Given the description of an element on the screen output the (x, y) to click on. 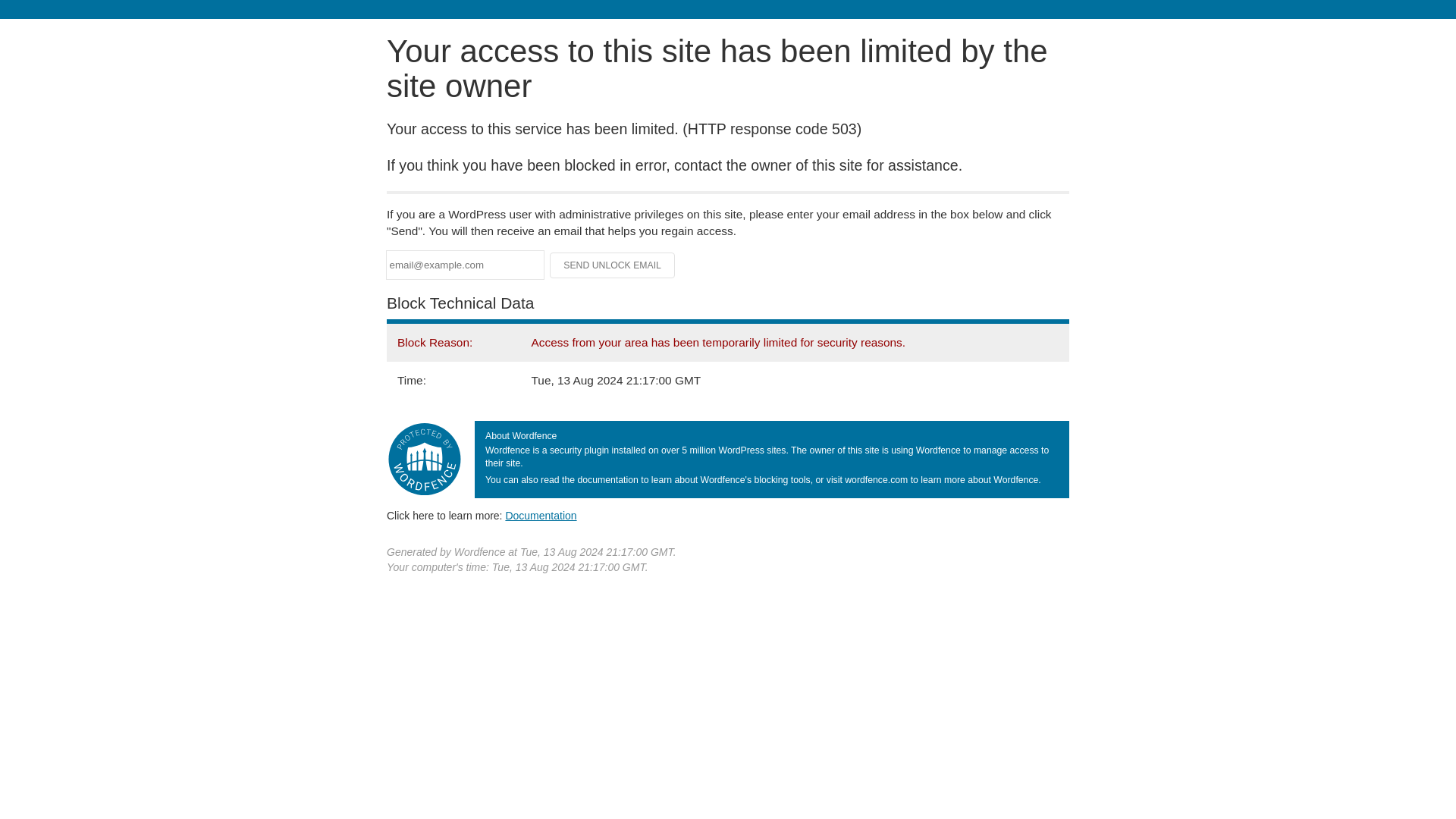
Documentation (540, 515)
Send Unlock Email (612, 265)
Send Unlock Email (612, 265)
